Given the description of an element on the screen output the (x, y) to click on. 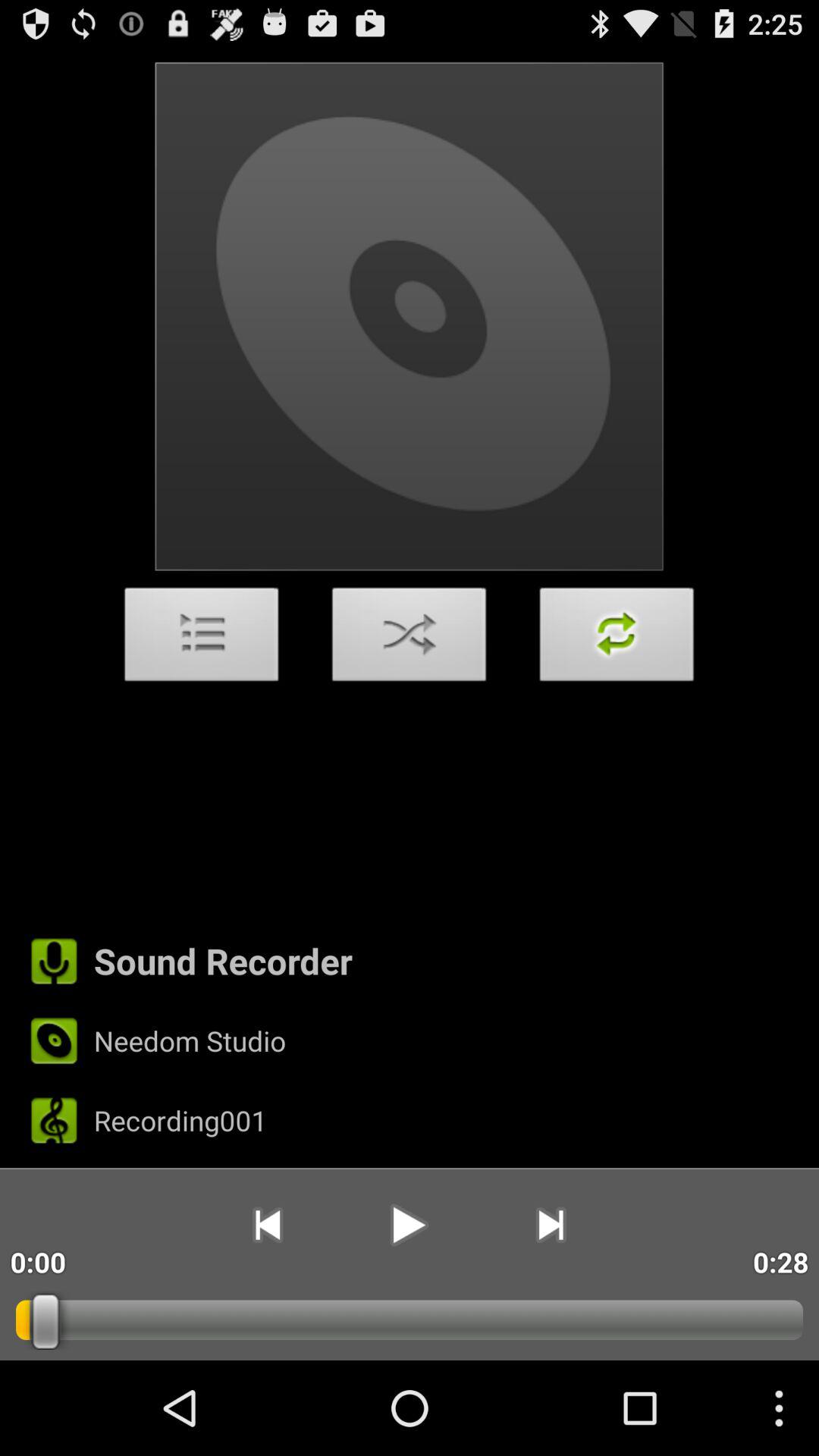
press the app next to the 0:00 icon (267, 1224)
